Given the description of an element on the screen output the (x, y) to click on. 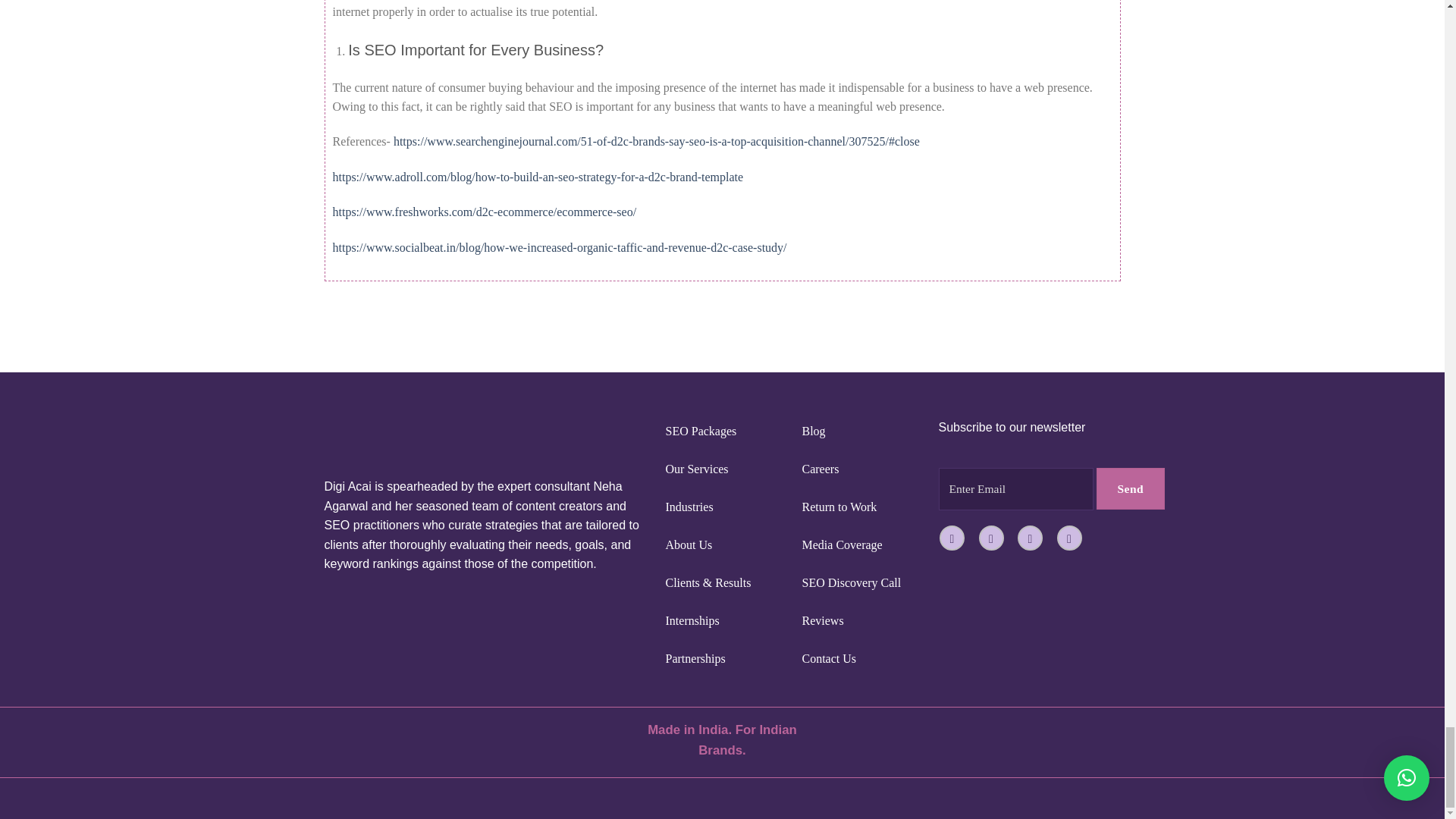
Follow on LinkedIn (1069, 537)
Send us an email (1029, 537)
Follow on Facebook (951, 537)
Send (1131, 488)
Follow on Instagram (991, 537)
